Given the description of an element on the screen output the (x, y) to click on. 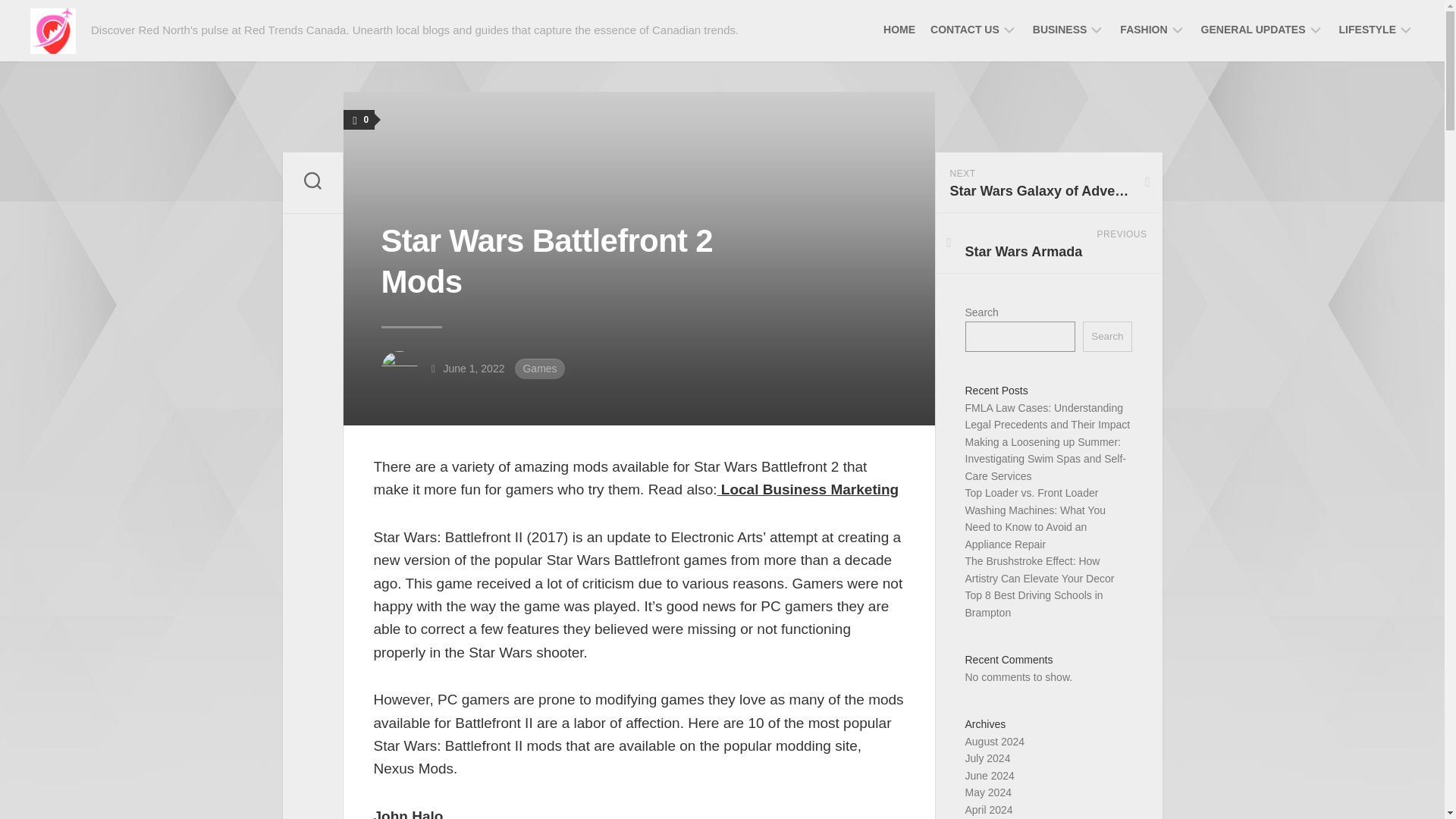
GENERAL UPDATES (1253, 29)
FASHION (1143, 29)
Games (539, 368)
LIFESTYLE (1367, 29)
BUSINESS (1059, 29)
HOME (899, 29)
Local Business Marketing (808, 489)
0 (358, 119)
CONTACT US (964, 29)
